Given the description of an element on the screen output the (x, y) to click on. 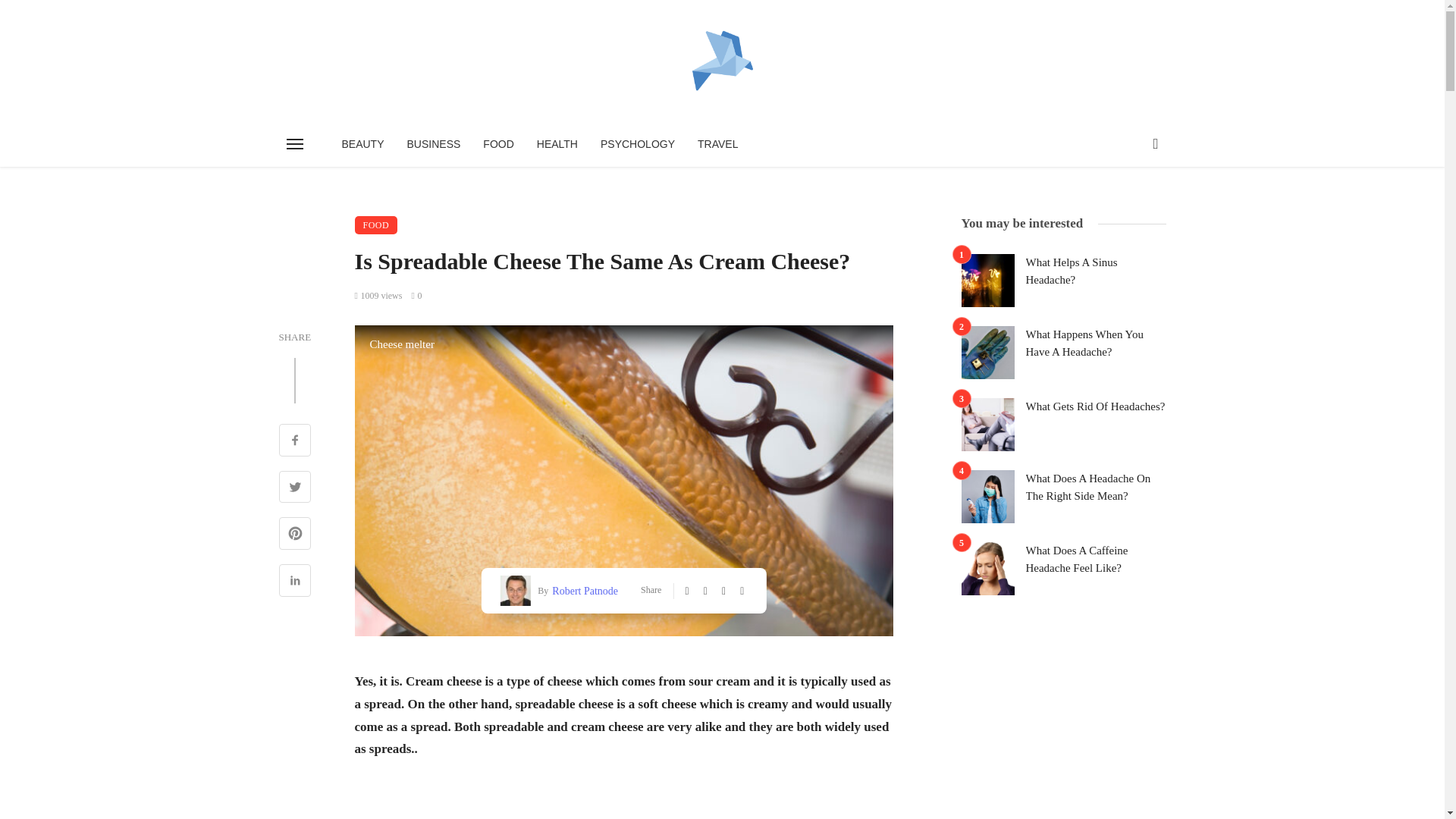
BUSINESS (433, 144)
Share on Twitter (295, 488)
Robert Patnode (582, 590)
Share on Facebook (295, 442)
Advertisement (624, 800)
BEAUTY (363, 144)
0 (416, 295)
FOOD (376, 225)
PSYCHOLOGY (637, 144)
0 Comments (416, 295)
